Given the description of an element on the screen output the (x, y) to click on. 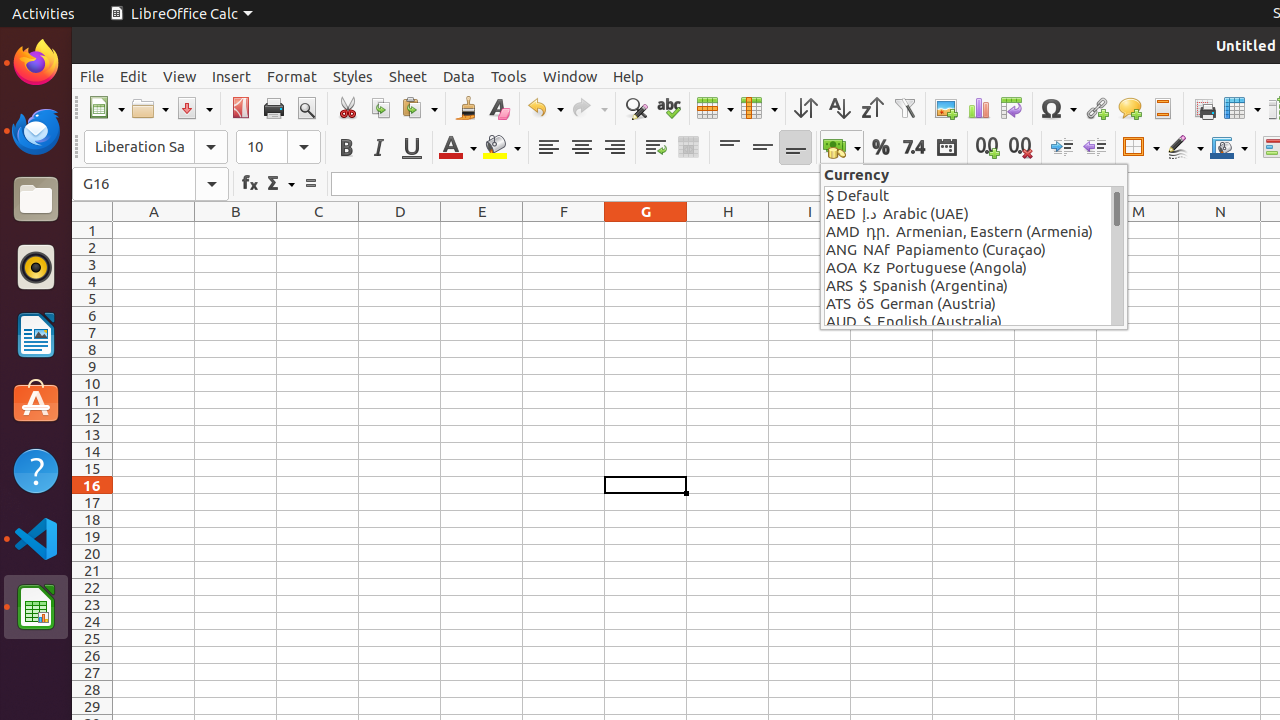
Sort Ascending Element type: push-button (838, 108)
Sort Descending Element type: push-button (871, 108)
View Element type: menu (179, 76)
Align Top Element type: push-button (729, 147)
Column Element type: push-button (759, 108)
